Given the description of an element on the screen output the (x, y) to click on. 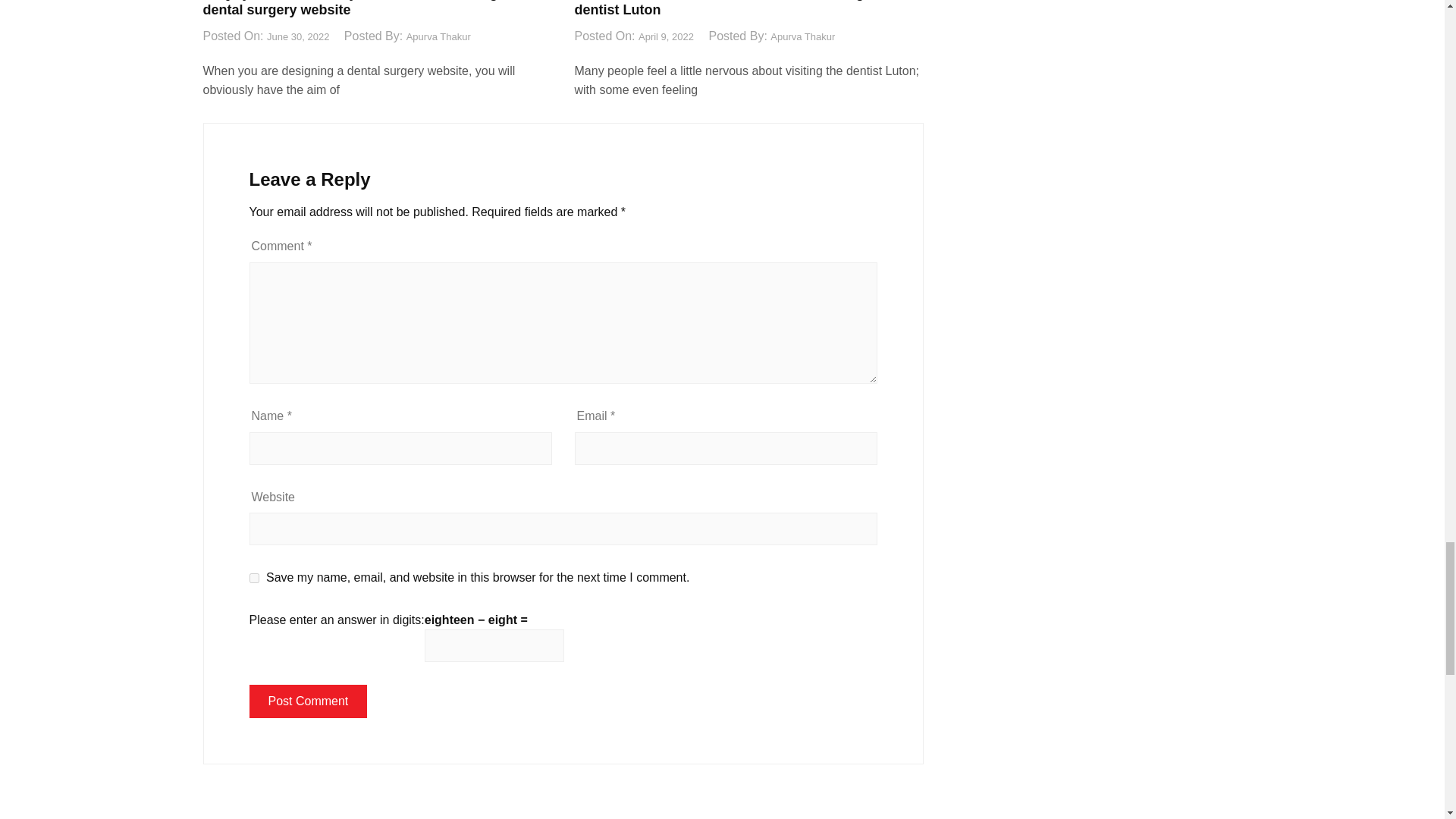
Post Comment (307, 701)
yes (253, 578)
